Given the description of an element on the screen output the (x, y) to click on. 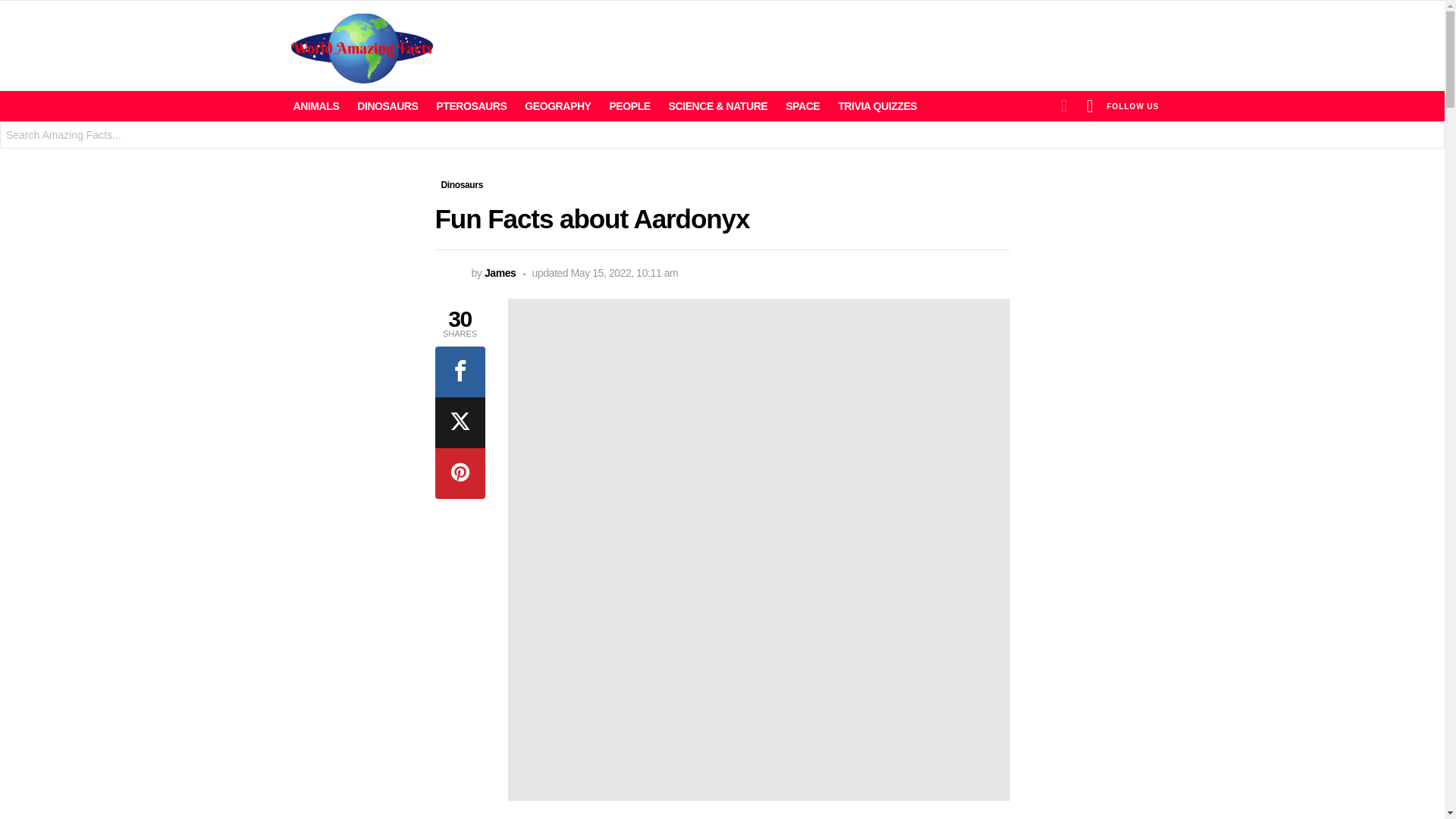
TRIVIA QUIZZES (876, 106)
PEOPLE (629, 106)
ANIMALS (315, 106)
SPACE (802, 106)
DINOSAURS (387, 106)
GEOGRAPHY (557, 106)
FOLLOW US (1132, 105)
James (500, 272)
PTEROSAURS (470, 106)
Follow us (1132, 105)
Dinosaurs (462, 184)
Posts by James (500, 272)
